Given the description of an element on the screen output the (x, y) to click on. 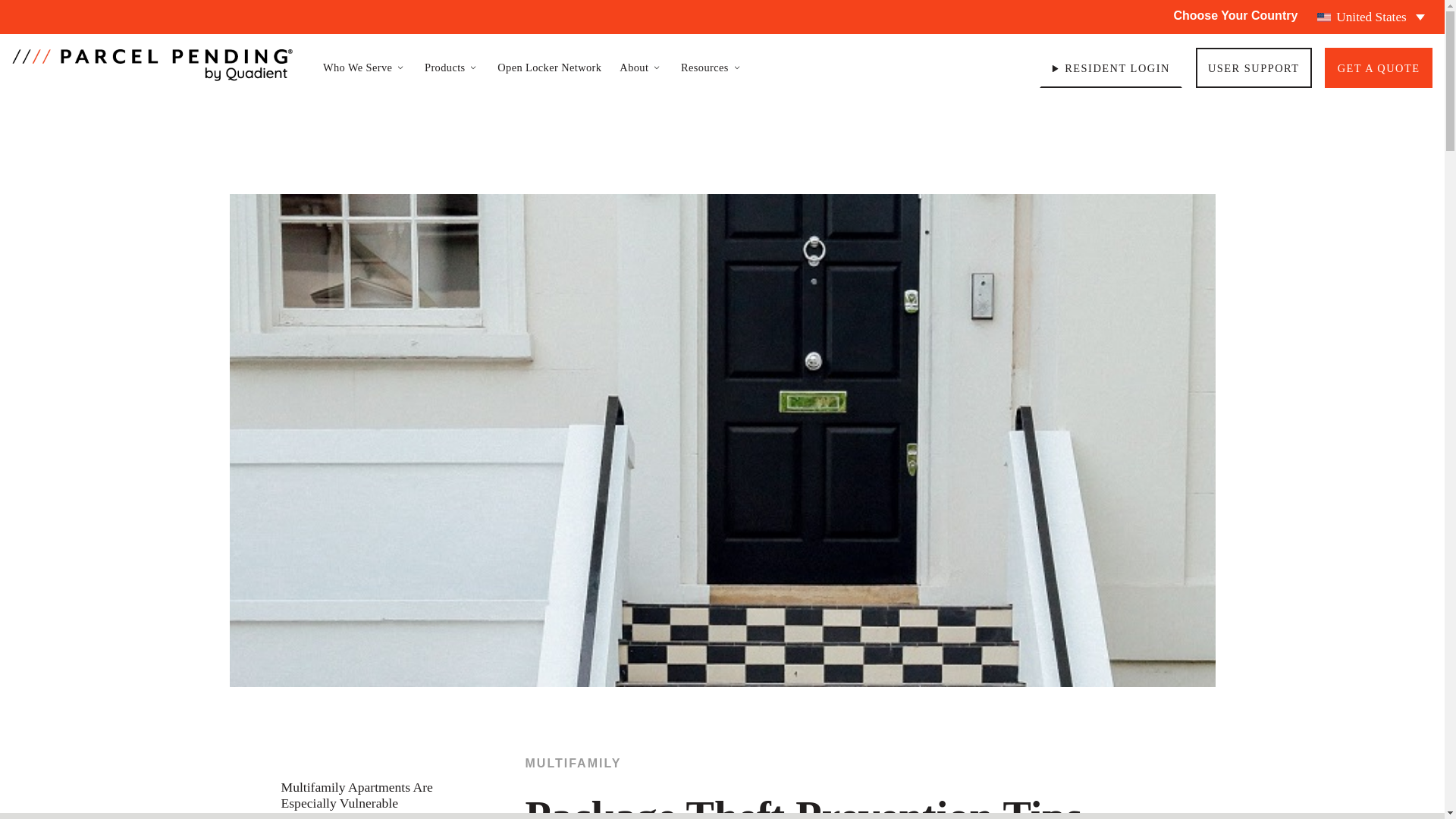
Who We Serve (364, 67)
Resources (711, 67)
Products (452, 67)
About (641, 67)
Open Locker Network (549, 67)
Who We Serve (364, 67)
Open Locker Network (549, 67)
About (641, 67)
United States (1370, 16)
Products (452, 67)
